Given the description of an element on the screen output the (x, y) to click on. 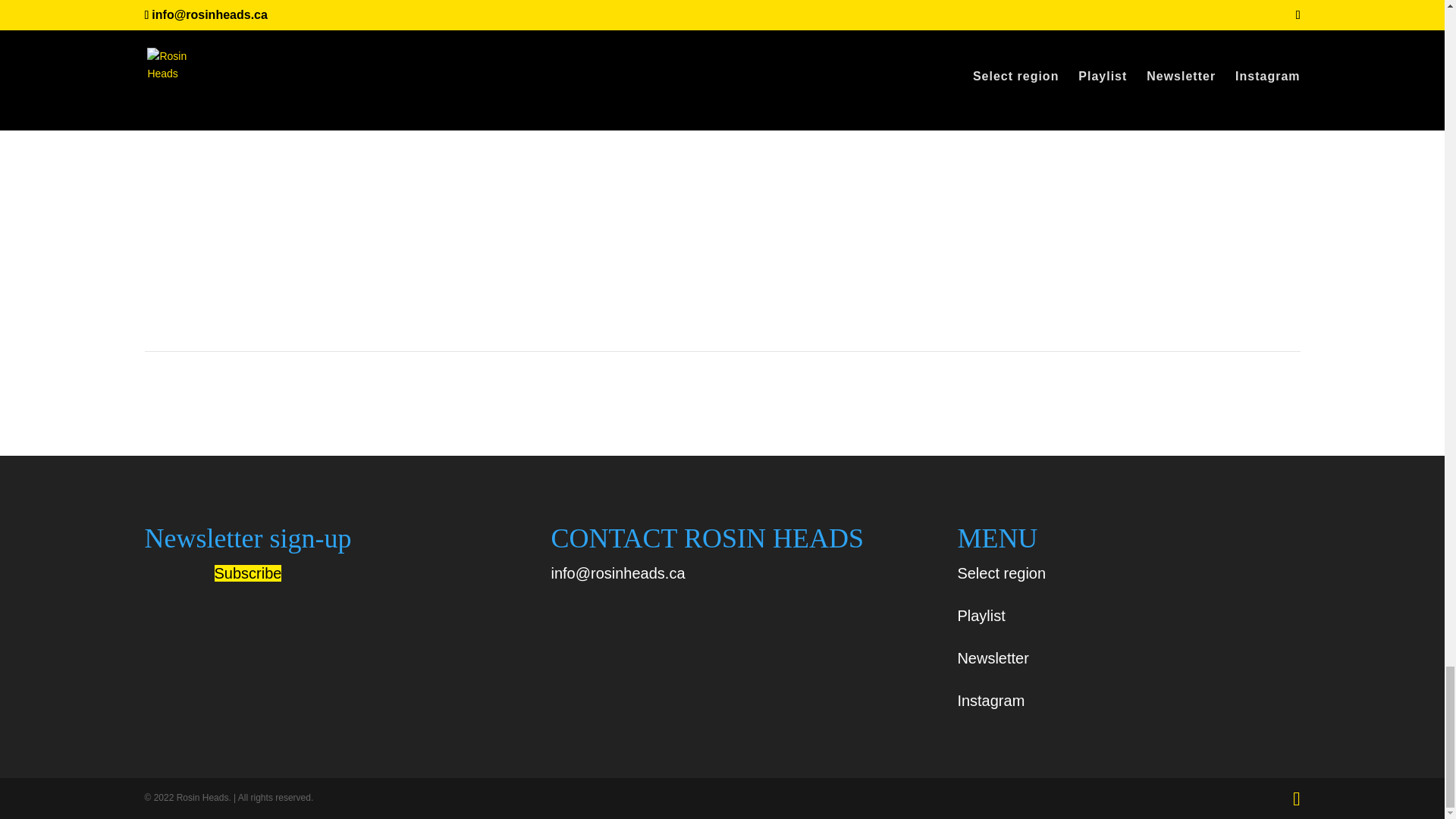
Newsletter (991, 658)
Instagram (990, 700)
Subscribe (247, 573)
Playlist (980, 615)
Select region (1000, 573)
